Given the description of an element on the screen output the (x, y) to click on. 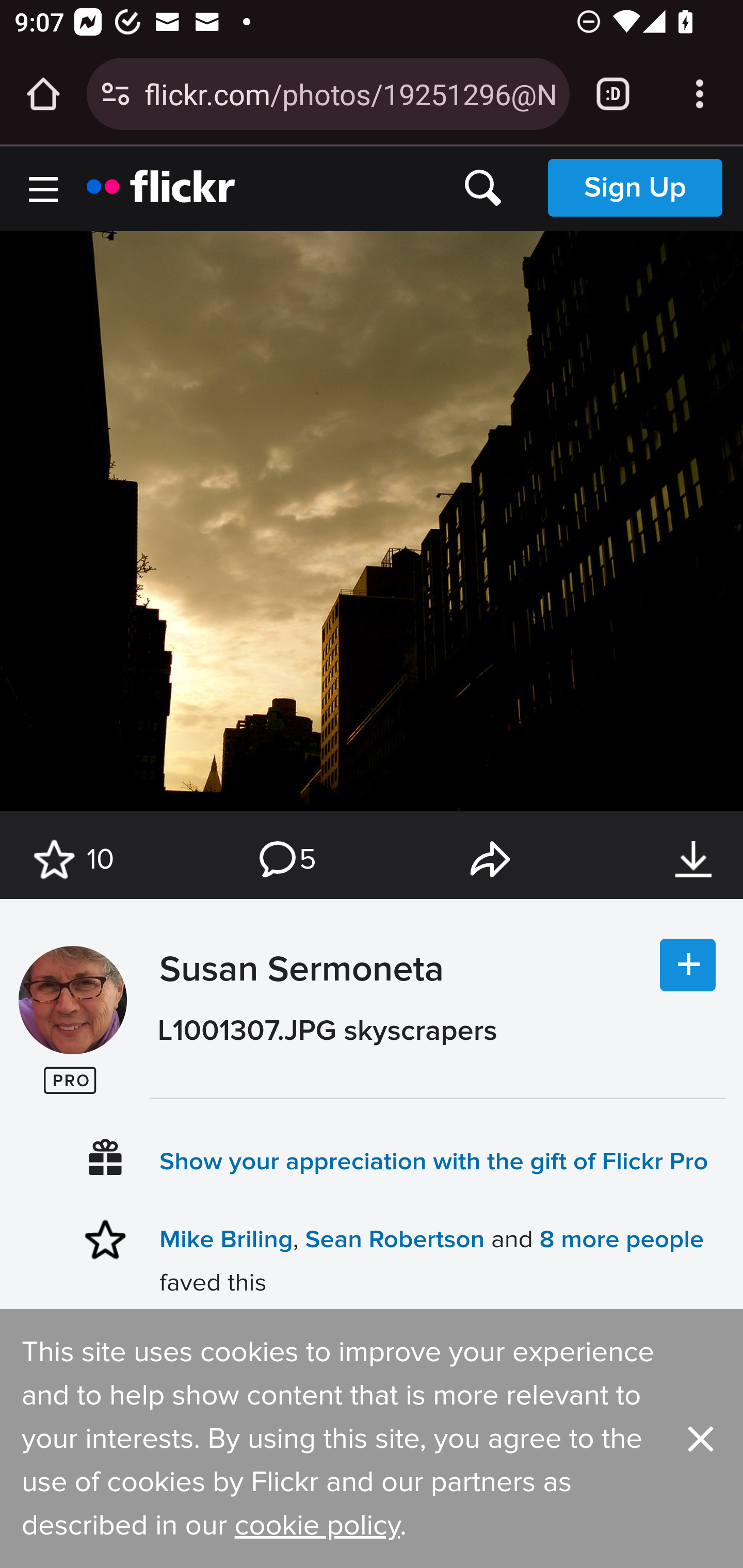
Open the home page (43, 93)
Connection is secure (115, 93)
Switch or close tabs (612, 93)
Customize and control Google Chrome (699, 93)
flickr.com/photos/19251296@N00/407746043 (349, 92)
Sign Up Sign Up Sign Up (634, 187)
5 (286, 860)
Download this photo (693, 860)
Follow (687, 965)
en321 (72, 1000)
Show your appreciation with the gift of Flickr Pro (434, 1160)
Mike Briling (226, 1238)
Sean Robertson (394, 1238)
8 more people (621, 1238)
